Given the description of an element on the screen output the (x, y) to click on. 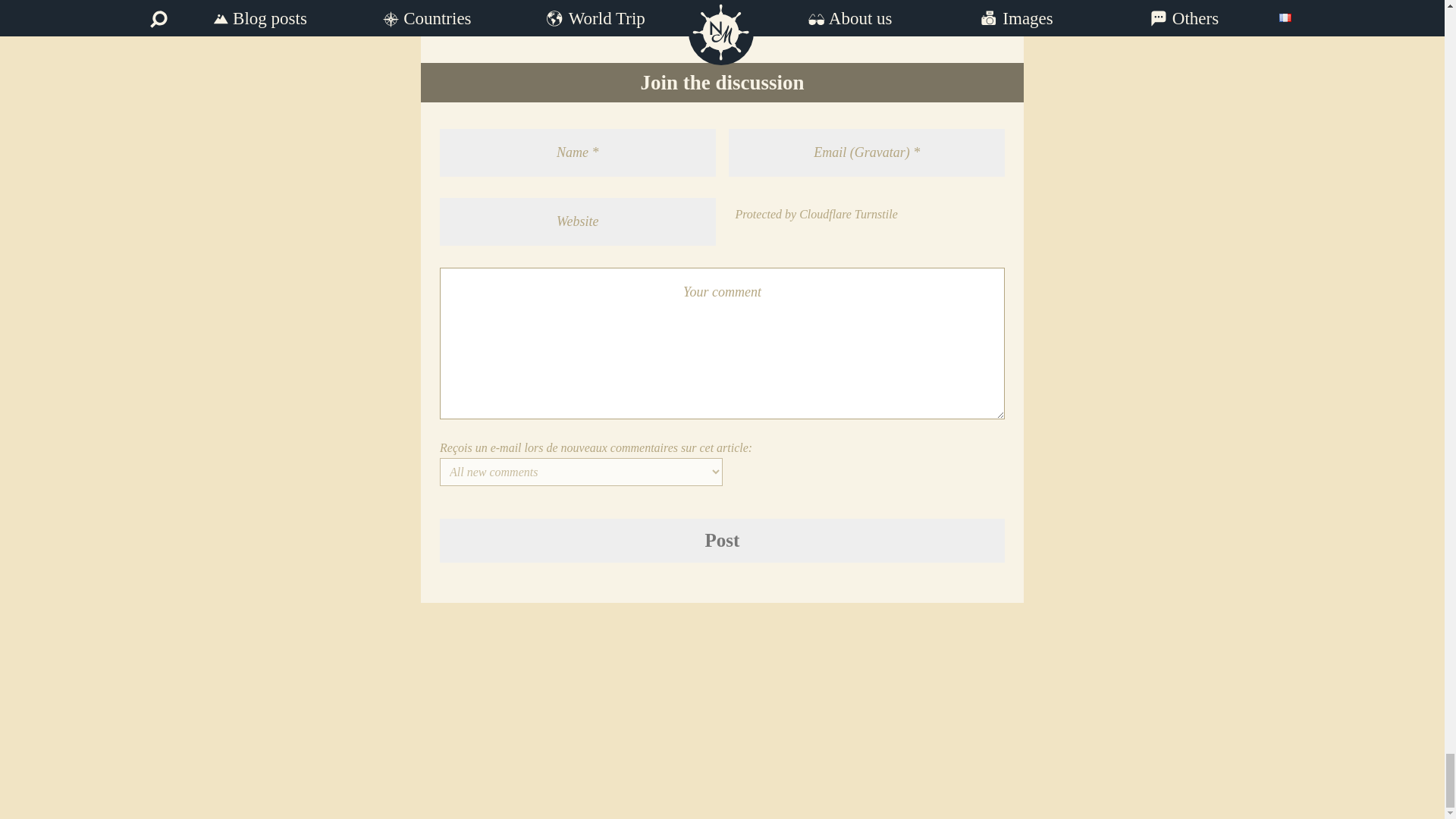
Post (721, 540)
